Given the description of an element on the screen output the (x, y) to click on. 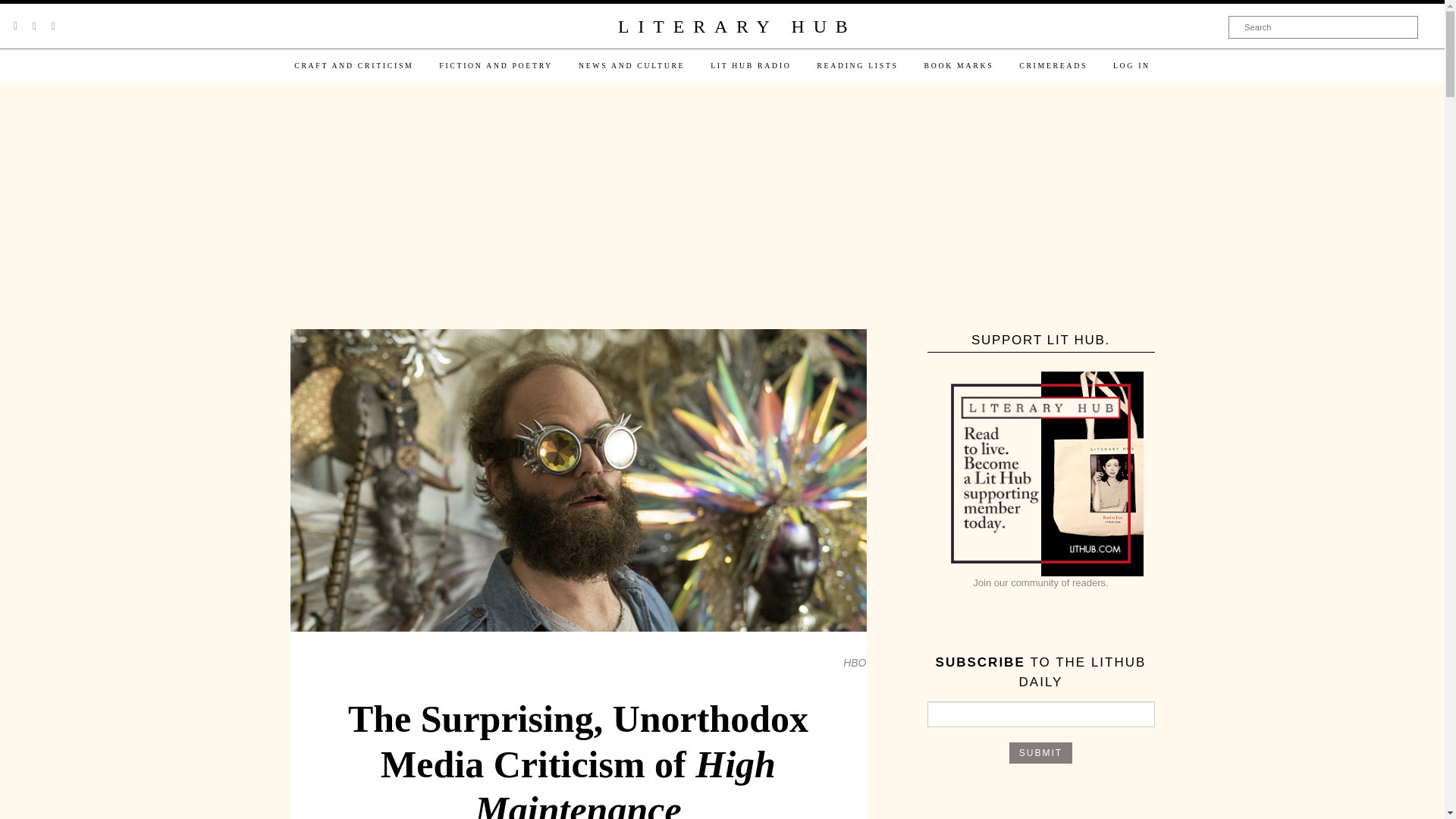
LITERARY HUB (736, 26)
FICTION AND POETRY (496, 65)
NEWS AND CULTURE (631, 65)
CRAFT AND CRITICISM (353, 65)
Search (1323, 26)
